Given the description of an element on the screen output the (x, y) to click on. 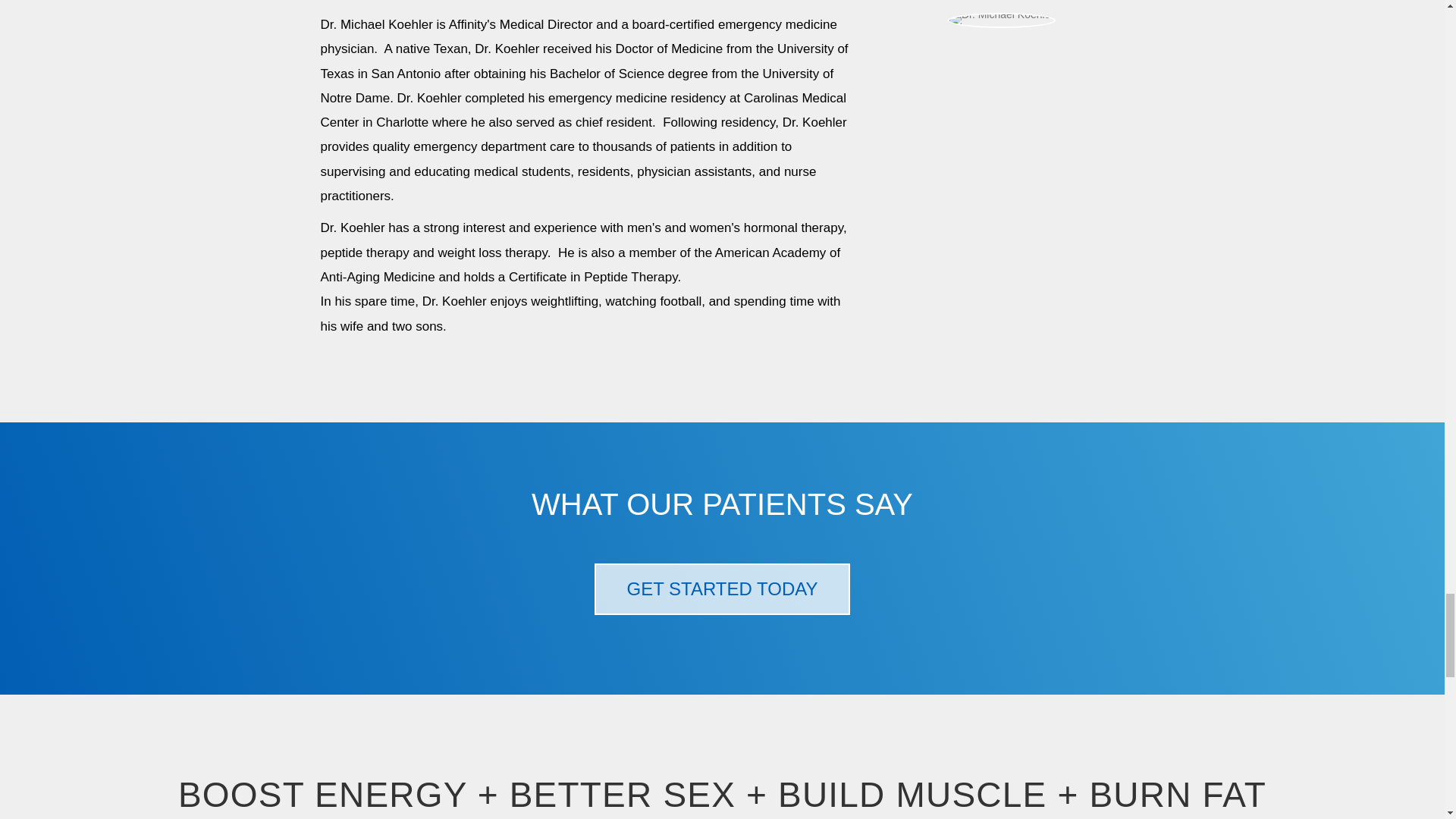
Image (1001, 20)
GET STARTED TODAY (721, 589)
